Given the description of an element on the screen output the (x, y) to click on. 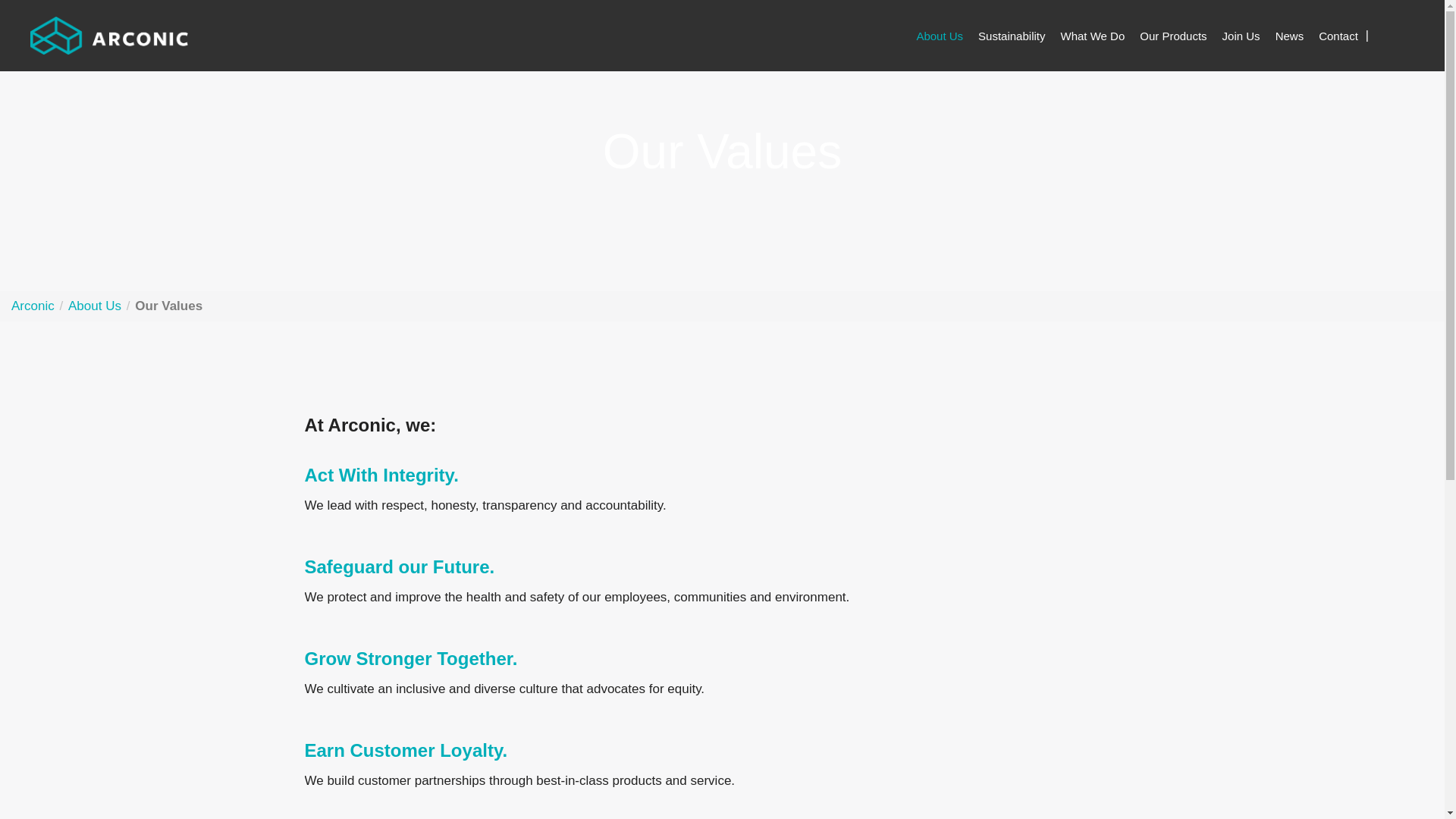
What We Do (1092, 35)
Our Products (1173, 35)
About Us (939, 35)
Go to Arconic (108, 35)
Sustainability (1011, 35)
